Given the description of an element on the screen output the (x, y) to click on. 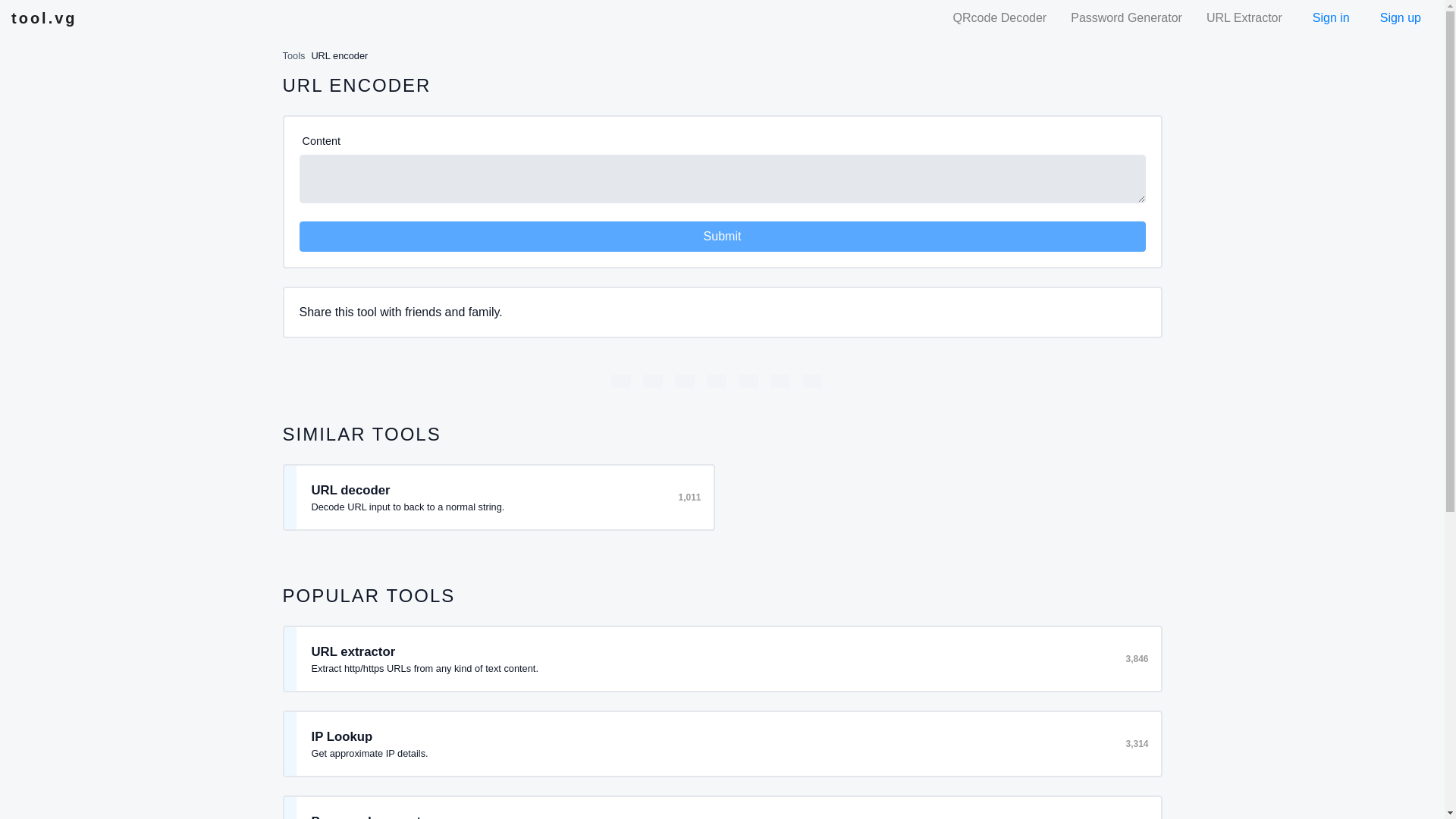
QRcode Decoder (999, 18)
Sign in (1327, 18)
Total views (1135, 743)
Password Generator (1125, 18)
Sign up (1396, 18)
tool.vg (44, 18)
Total views (1135, 658)
Tools (293, 55)
Submit (721, 236)
URL Extractor (1243, 18)
Total views (687, 497)
